Given the description of an element on the screen output the (x, y) to click on. 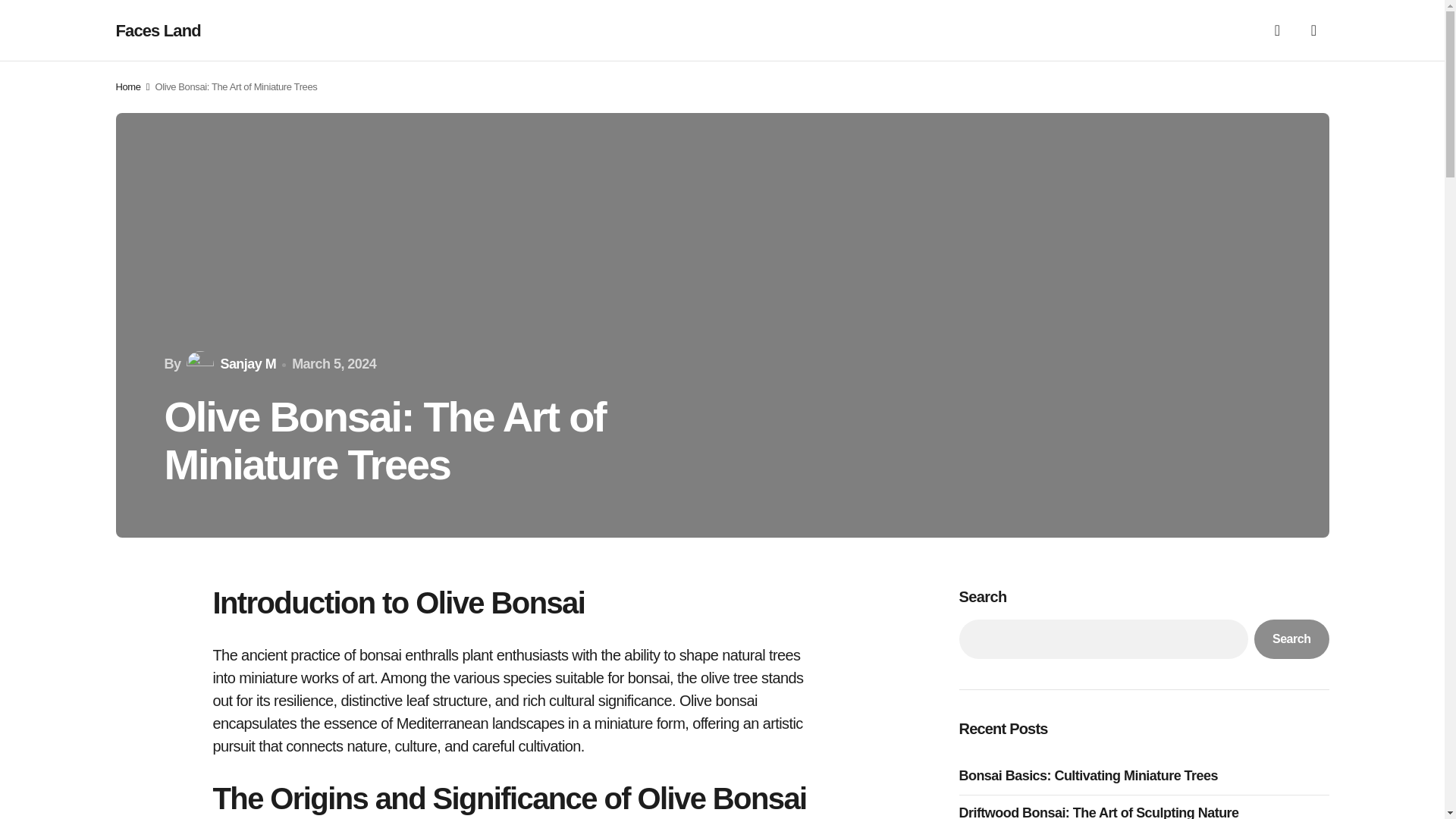
Search (1291, 638)
Home (127, 86)
Faces Land (157, 30)
Sanjay M (229, 364)
Driftwood Bonsai: The Art of Sculpting Nature (1102, 811)
Bonsai Basics: Cultivating Miniature Trees (1091, 775)
